Given the description of an element on the screen output the (x, y) to click on. 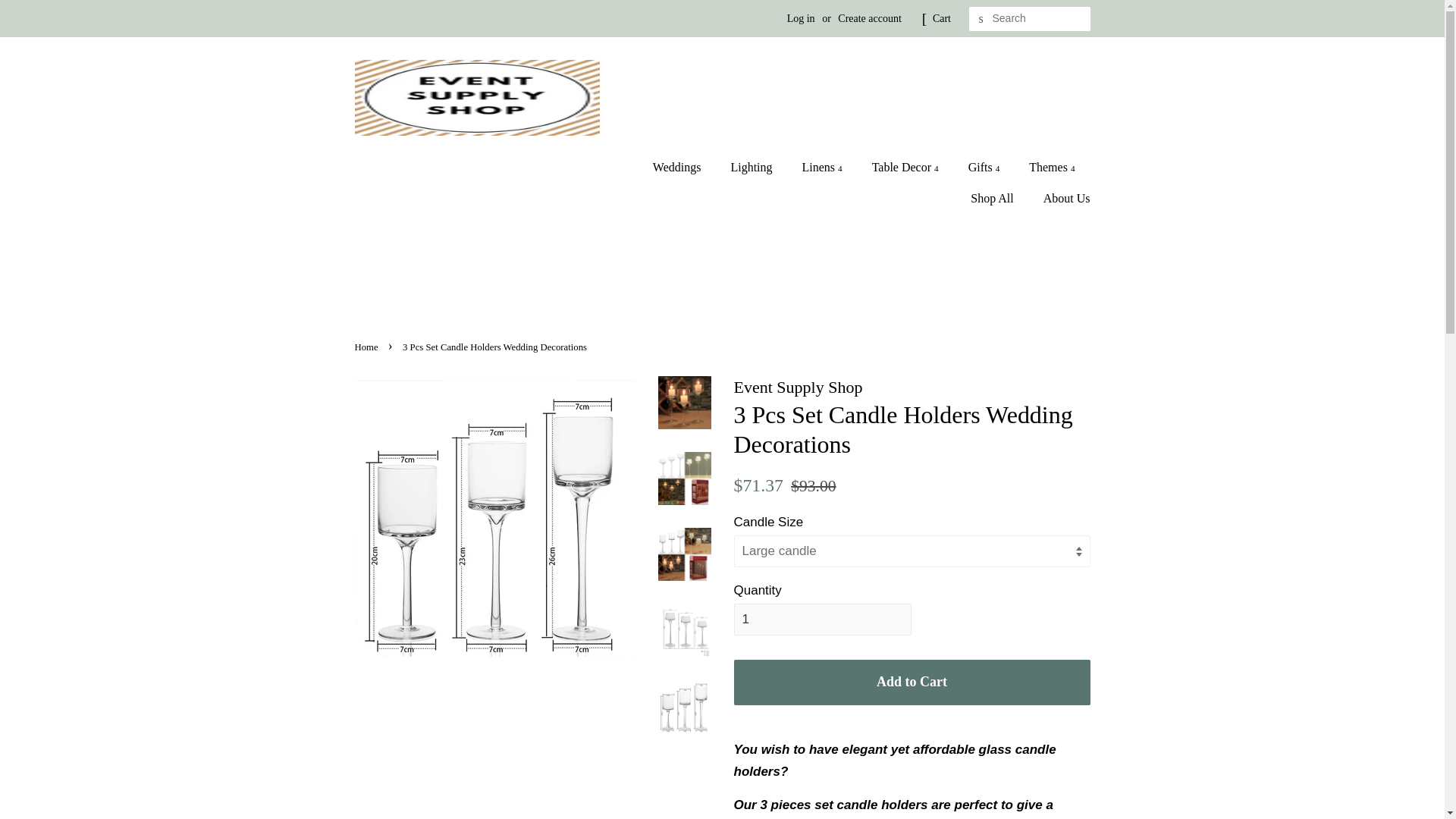
Linens (823, 166)
Weddings (684, 166)
Search (980, 18)
Create account (869, 18)
Log in (801, 18)
Cart (941, 18)
1 (822, 619)
Lighting (753, 166)
Back to the frontpage (368, 347)
